Given the description of an element on the screen output the (x, y) to click on. 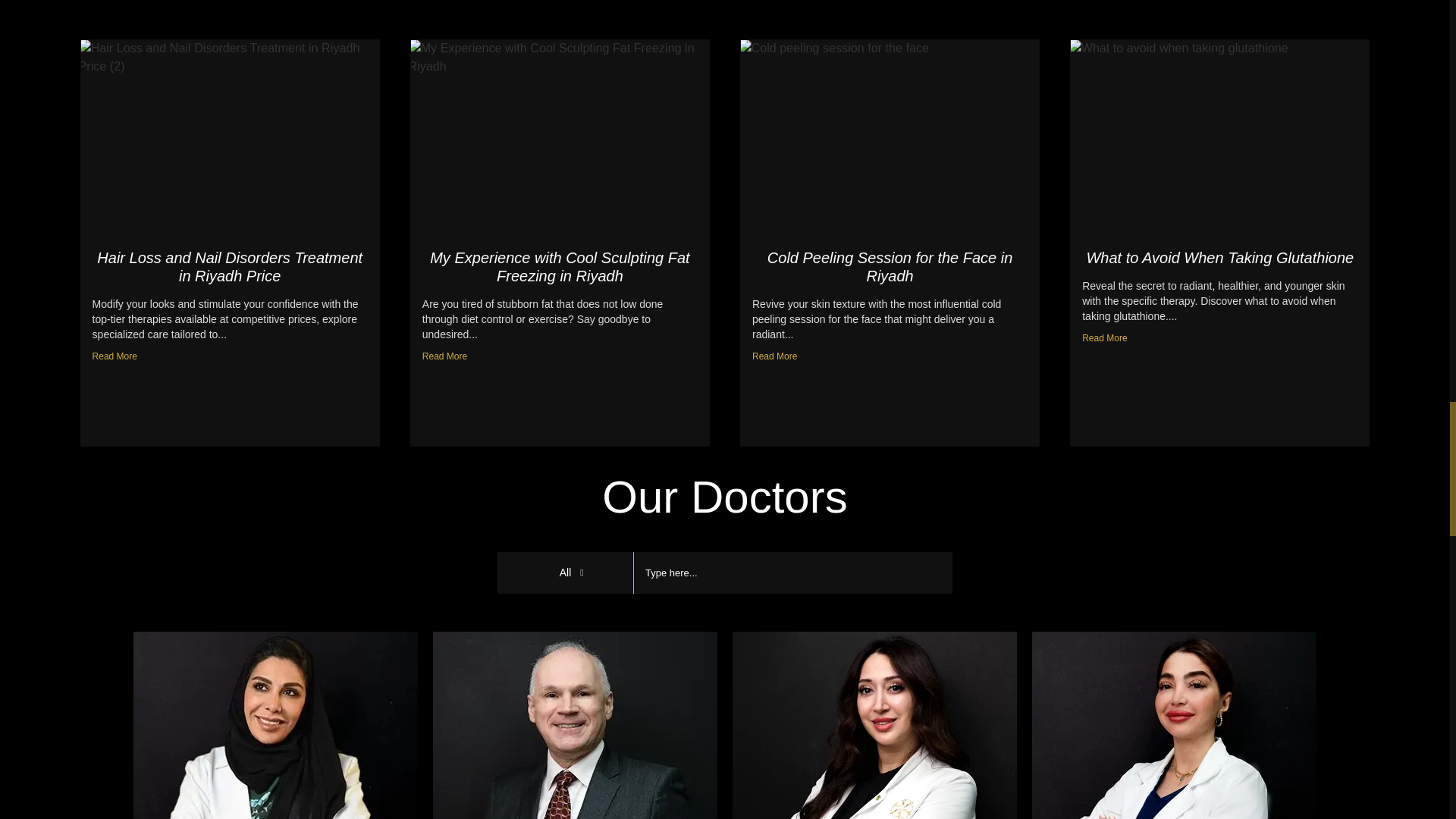
Read More (1103, 333)
Read More (114, 352)
Hair Loss and Nail Disorders Treatment in Riyadh Price (229, 266)
Hair Loss and Nail Disorders Treatment in Riyadh Price (229, 266)
My Experience with Cool Sculpting Fat Freezing in Riyadh (558, 266)
What to Avoid When Taking Glutathione (1220, 257)
Read More (444, 352)
All (565, 572)
My Experience with Cool Sculpting Fat Freezing in Riyadh (558, 266)
Read More (774, 352)
Cold Peeling Session for the Face in Riyadh (890, 266)
Cold Peeling Session for the Face in Riyadh (890, 266)
What to Avoid When Taking Glutathione (1220, 257)
